Given the description of an element on the screen output the (x, y) to click on. 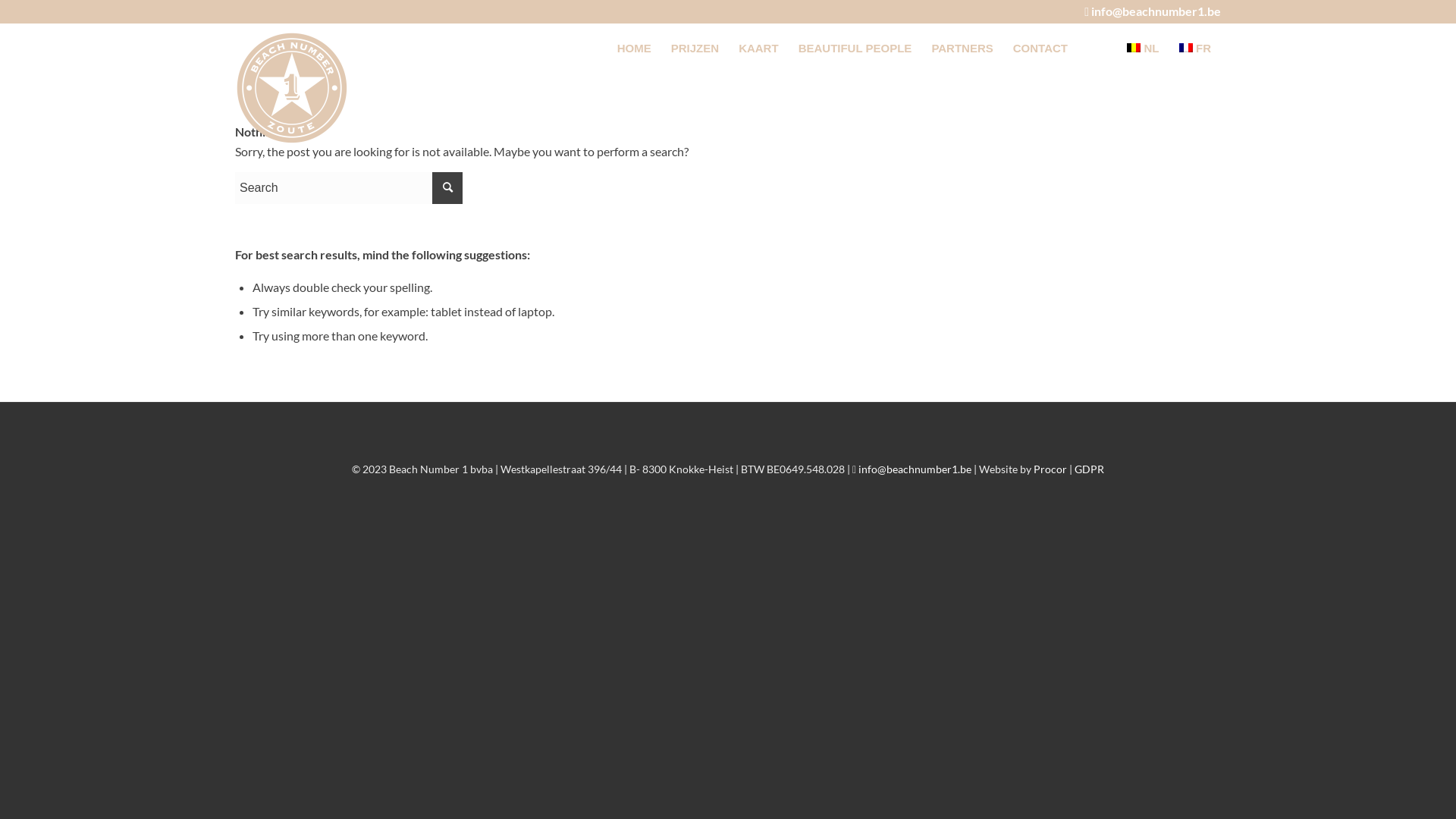
PRIJZEN Element type: text (694, 47)
info@beachnumber1.be Element type: text (914, 468)
GDPR Element type: text (1089, 468)
Procor Element type: text (1049, 468)
PARTNERS Element type: text (961, 47)
CONTACT Element type: text (1040, 47)
FR Element type: text (1195, 47)
KAART Element type: text (758, 47)
BEAUTIFUL PEOPLE Element type: text (855, 47)
info@beachnumber1.be Element type: text (1155, 10)
NL Element type: text (1143, 47)
HOME Element type: text (634, 47)
